Given the description of an element on the screen output the (x, y) to click on. 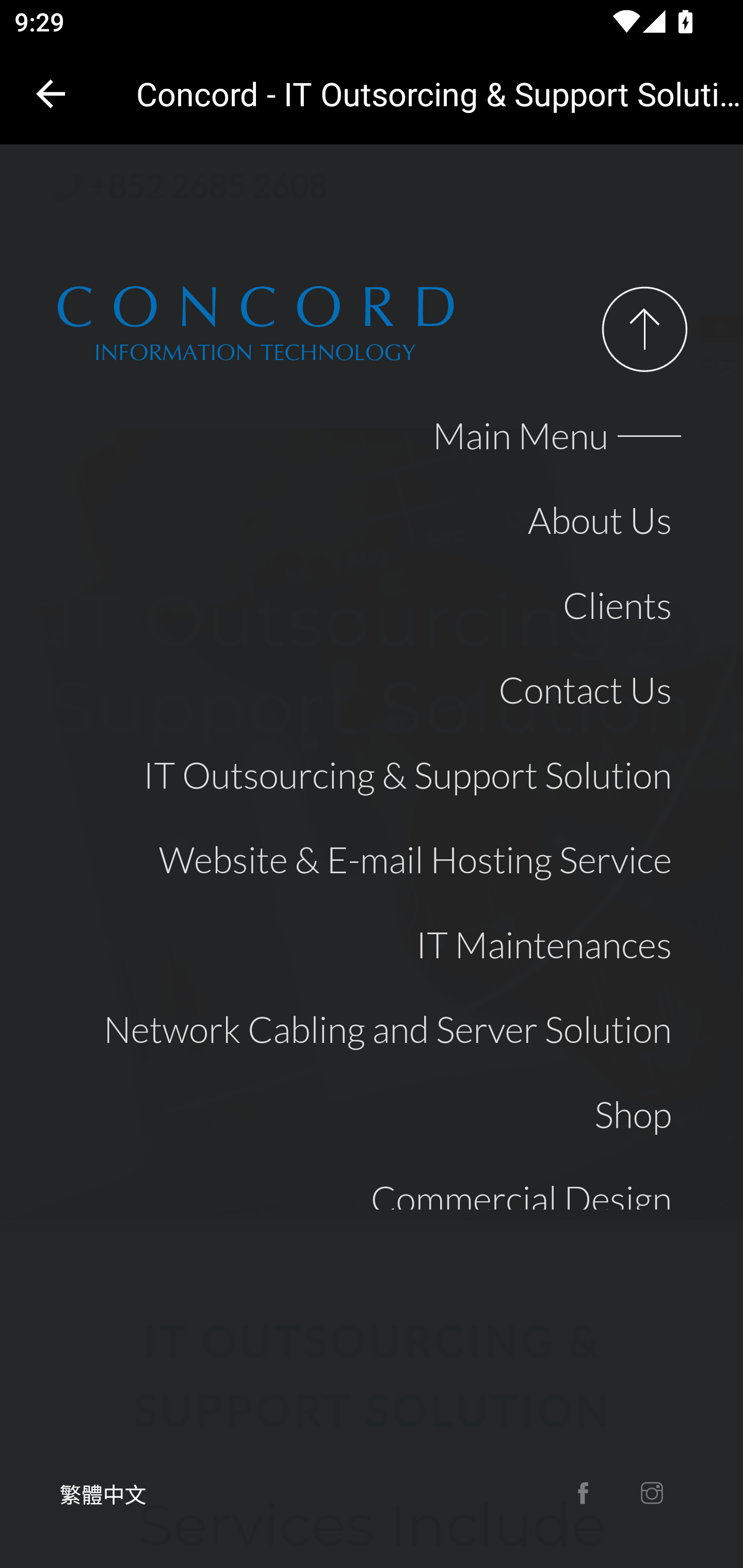
Navigate up (50, 93)
javascript:void(0); (645, 328)
 Main Menu    Main Menu (552, 435)
 About Us    About Us (599, 519)
 Clients    Clients (617, 604)
 Contact Us    Contact Us (584, 689)
 IT Maintenances    IT Maintenances (544, 944)
 Shop    Shop (633, 1113)
 Commercial Design    Commercial Design (521, 1198)
繁體中文 (102, 1493)
 (586, 1493)
 (655, 1493)
